Given the description of an element on the screen output the (x, y) to click on. 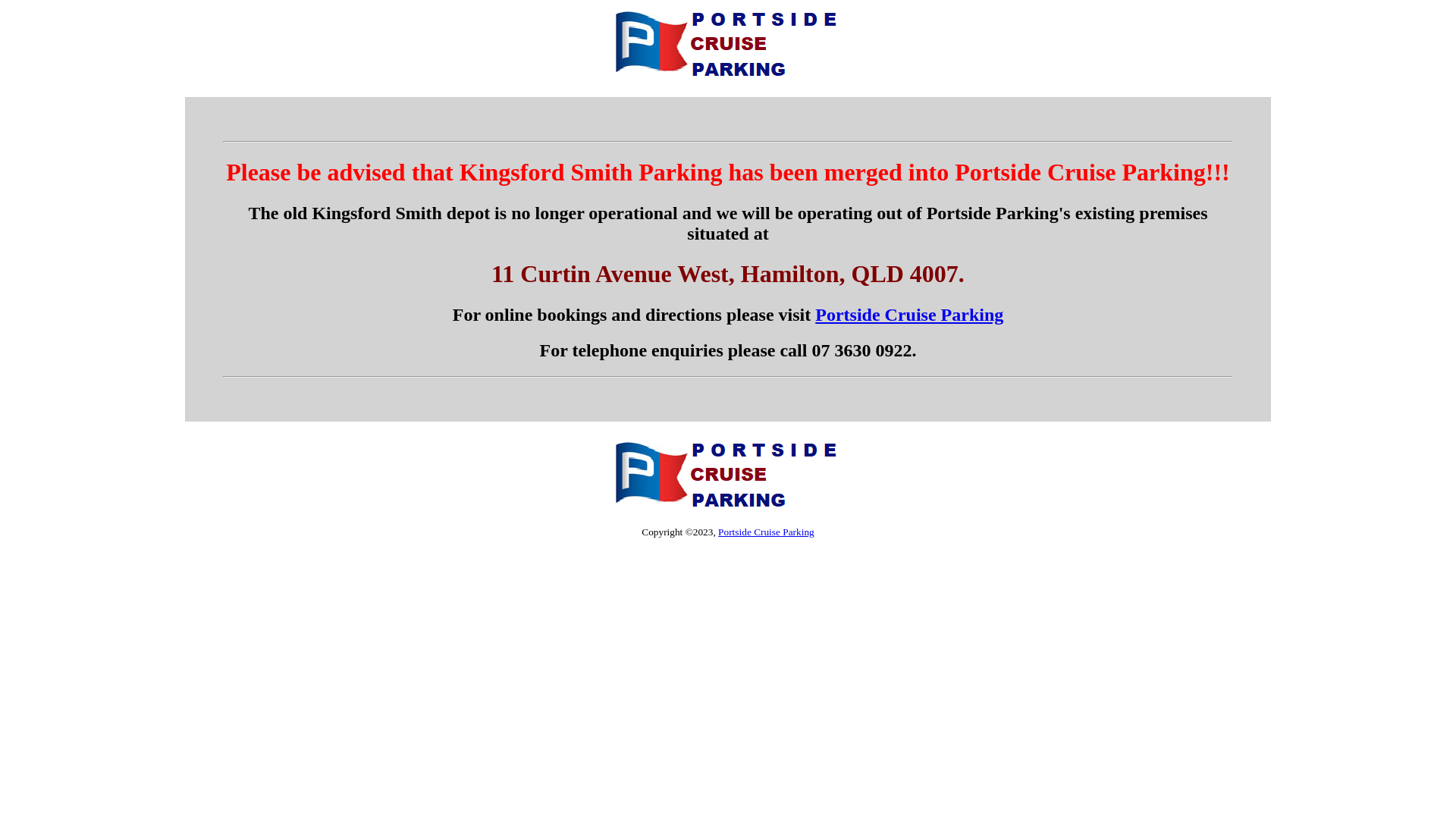
Portside Cruise Parking Element type: text (766, 531)
Portside Cruise Parking Element type: text (909, 314)
